Given the description of an element on the screen output the (x, y) to click on. 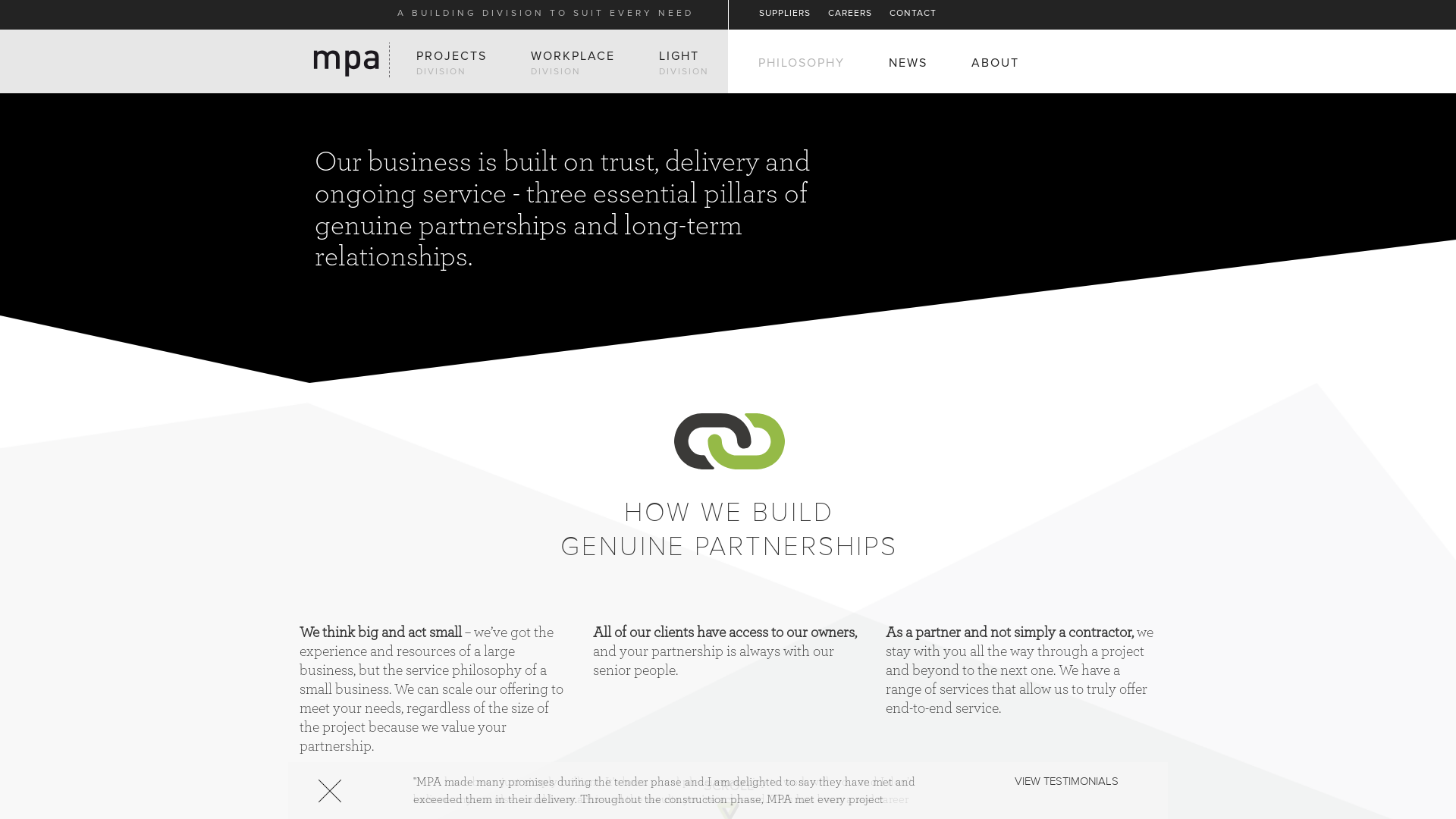
PROJECTS
DIVISION Element type: text (451, 62)
PHILOSOPHY Element type: text (801, 63)
NEWS Element type: text (907, 63)
LIGHT
DIVISION Element type: text (683, 62)
SCROLL Element type: text (728, 786)
WORKPLACE
DIVISION Element type: text (572, 62)
ABOUT Element type: text (995, 63)
SUPPLIERS Element type: text (784, 13)
CONTACT Element type: text (912, 13)
VIEW TESTIMONIALS Element type: text (1066, 781)
CAREERS Element type: text (850, 13)
